Given the description of an element on the screen output the (x, y) to click on. 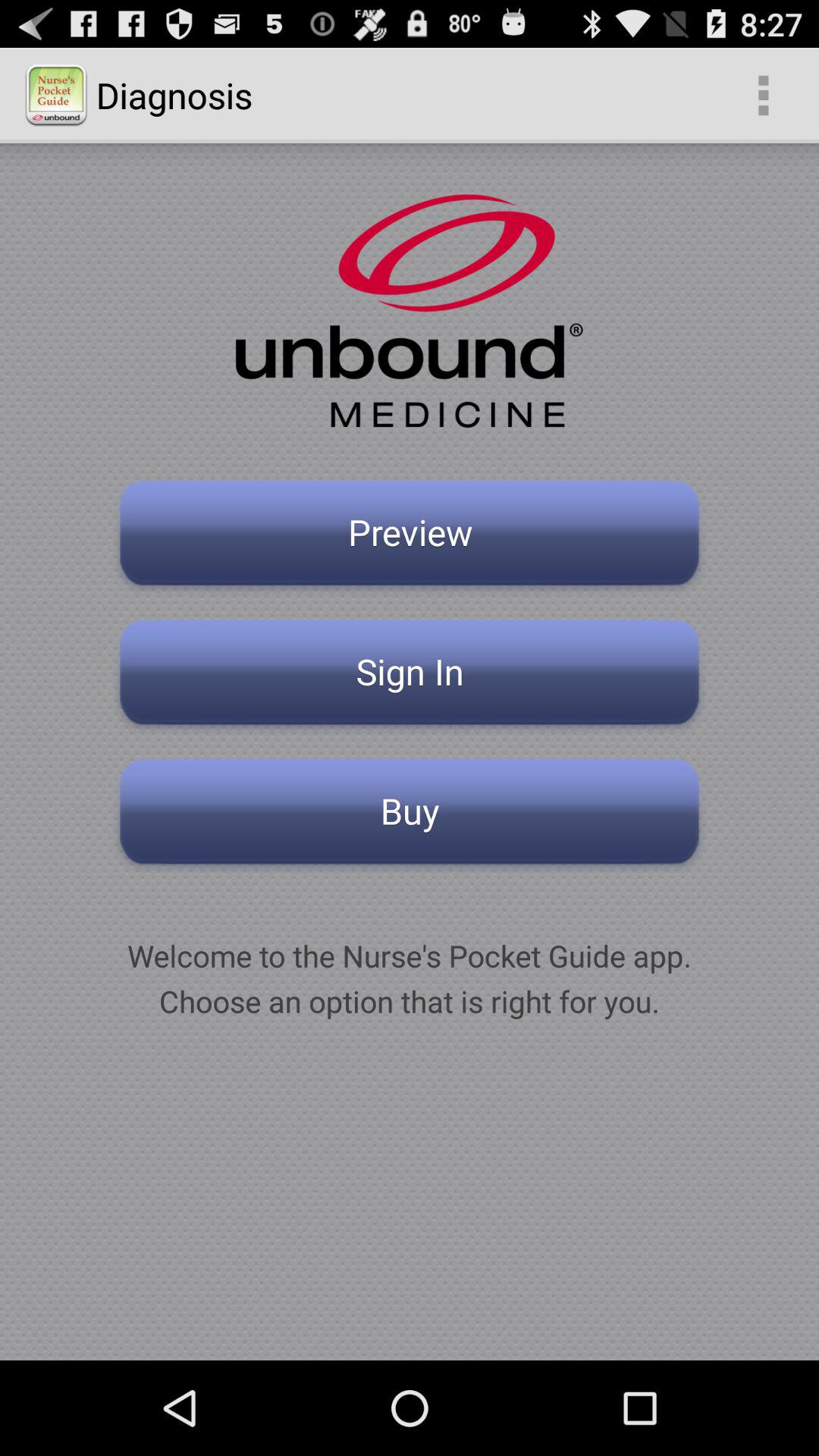
select icon above the preview item (763, 95)
